Given the description of an element on the screen output the (x, y) to click on. 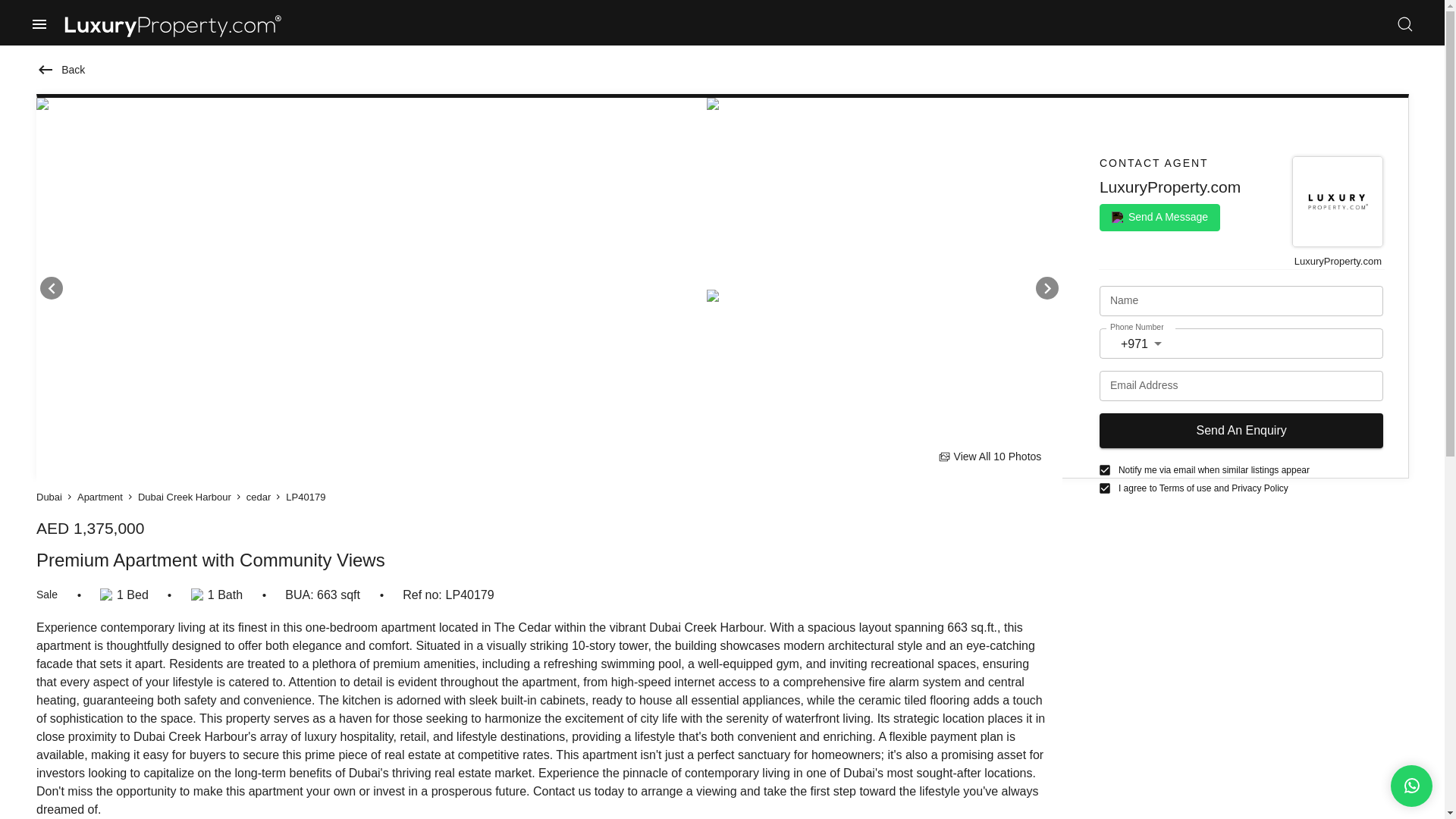
Apartment (99, 497)
View All 10 Photos (989, 456)
Dubai (49, 497)
Back (60, 69)
Dubai Creek Harbour (184, 497)
